Given the description of an element on the screen output the (x, y) to click on. 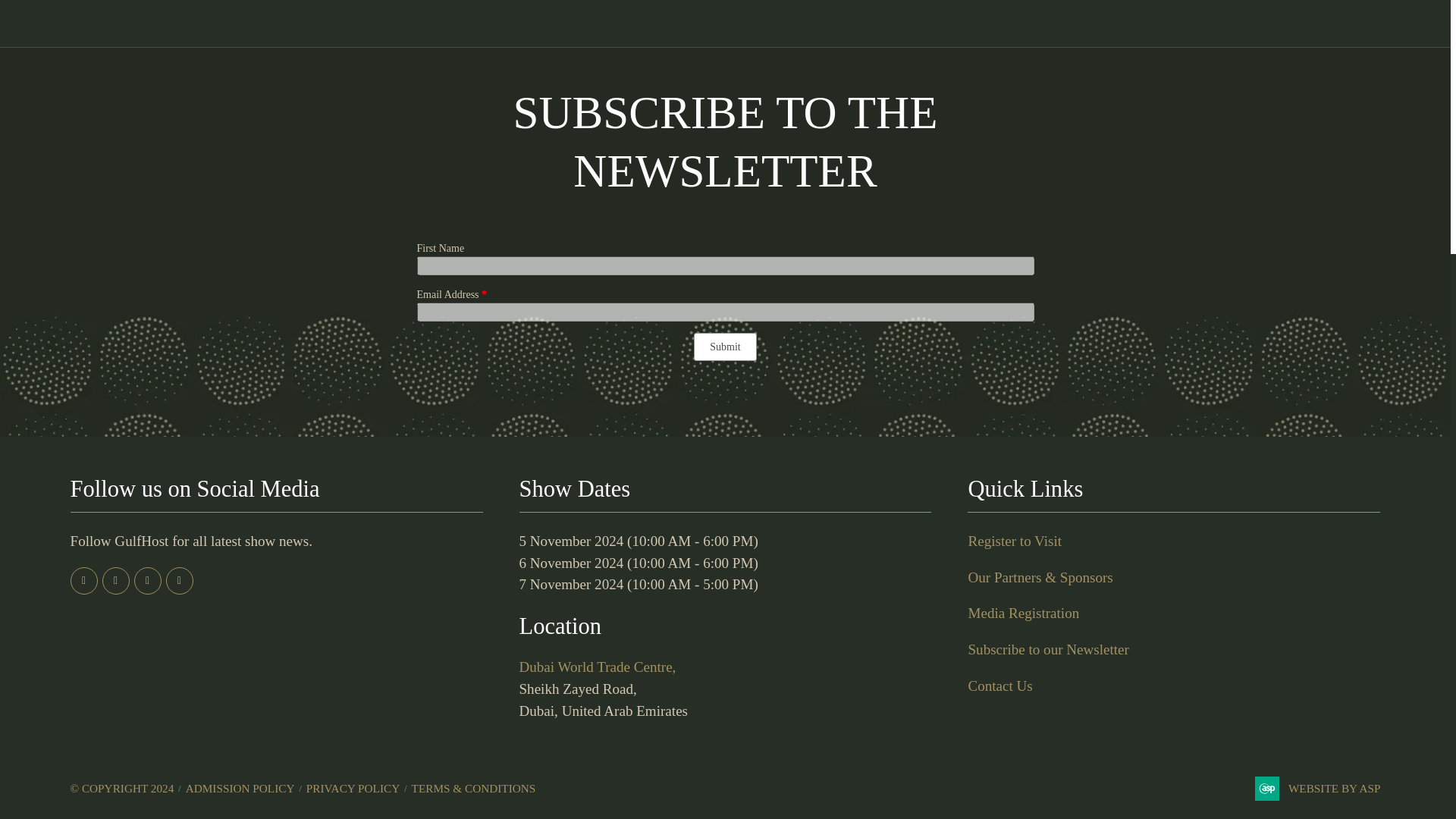
Submit (724, 346)
Register to Visit (1014, 540)
Dubai World Trade Centre, (596, 666)
